Given the description of an element on the screen output the (x, y) to click on. 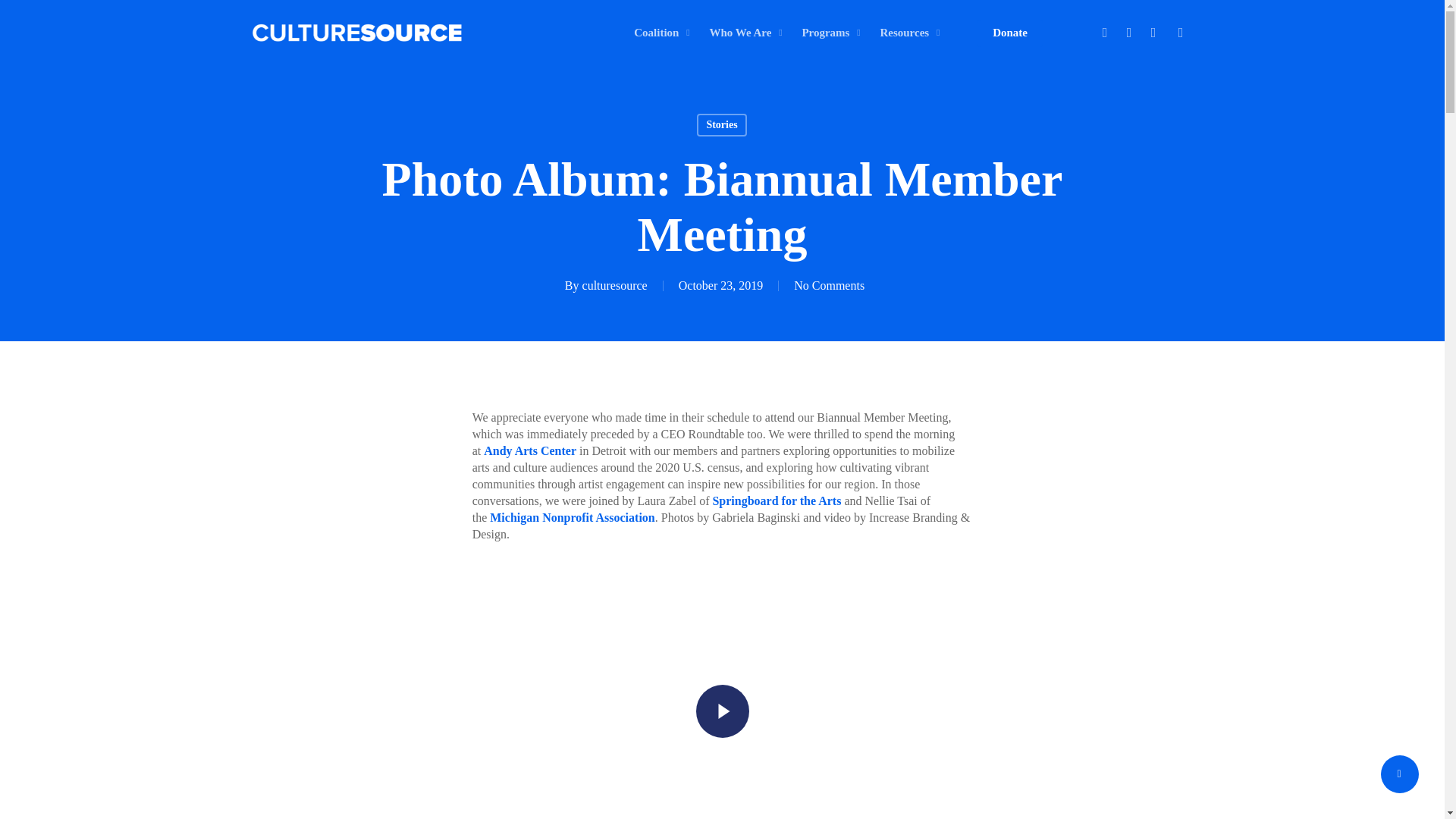
Springboard for the Arts (776, 500)
facebook (1129, 32)
Donate (1010, 32)
Posts by culturesource (614, 285)
Michigan Nonprofit Association (572, 517)
Stories (721, 124)
Play Video (722, 710)
Programs (833, 32)
Coalition (663, 32)
linkedin (1153, 32)
